Given the description of an element on the screen output the (x, y) to click on. 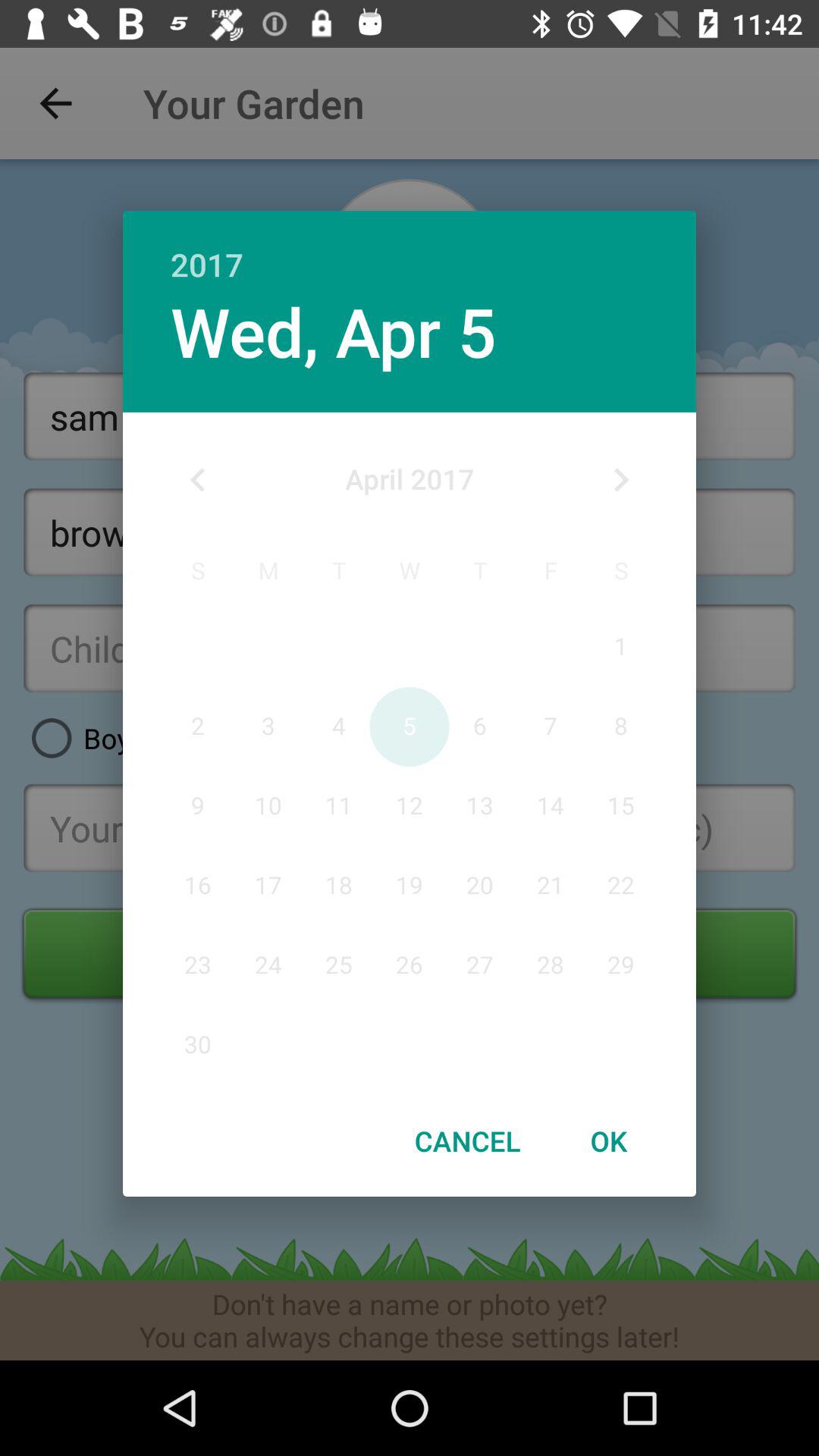
tap the 2017 icon (409, 248)
